Given the description of an element on the screen output the (x, y) to click on. 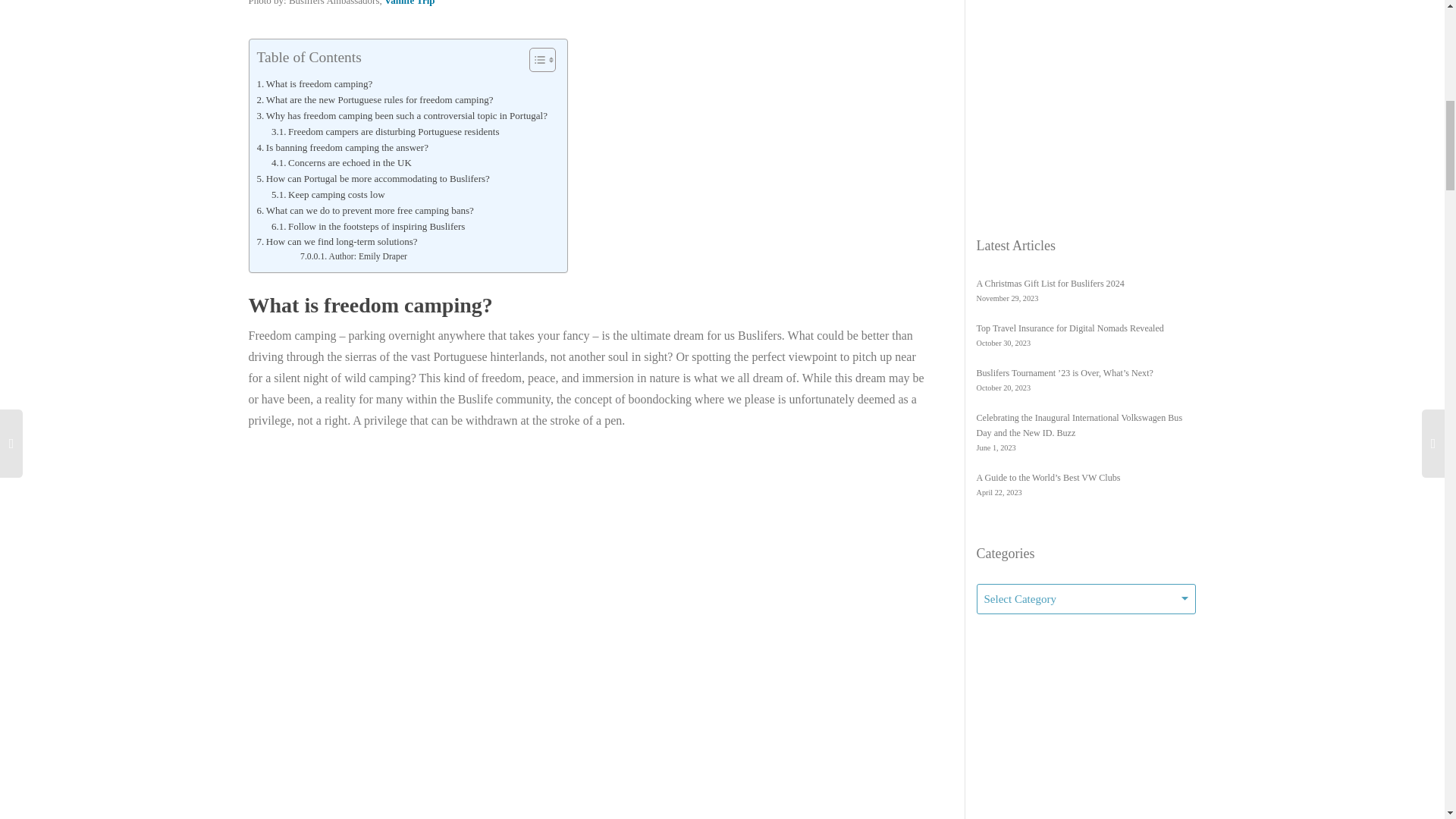
Freedom campers are disturbing Portuguese residents (384, 132)
What are the new Portuguese rules for freedom camping?   (376, 100)
Vanlife Trip (409, 2)
What is freedom camping? (314, 84)
